Given the description of an element on the screen output the (x, y) to click on. 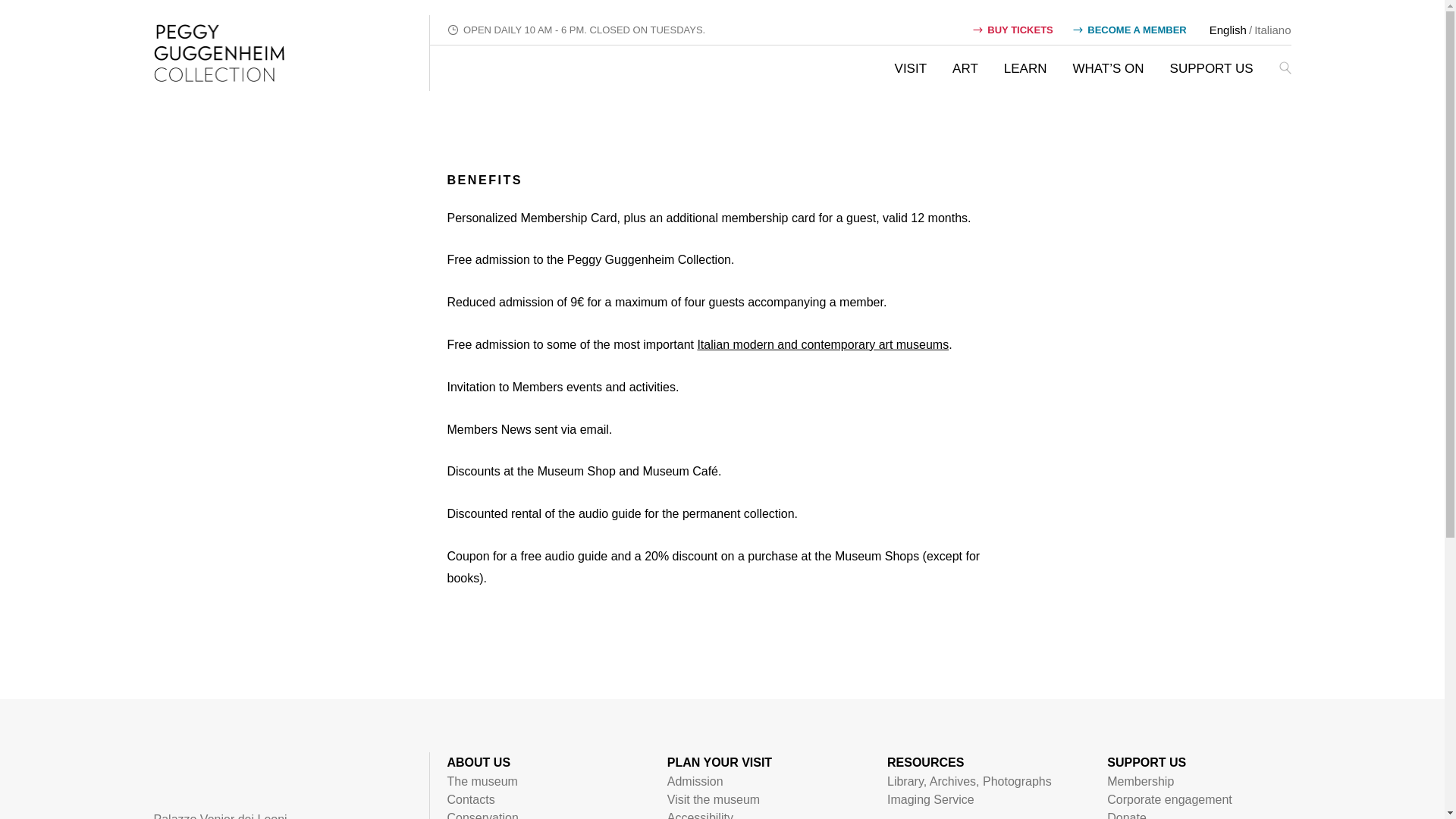
Contacts (470, 799)
BUY TICKETS (1012, 30)
Italiano (1271, 29)
LEARN (1025, 68)
BECOME A MEMBER (1129, 30)
VISIT (911, 68)
The museum (482, 780)
ART (965, 68)
English (1227, 29)
SUPPORT US (1211, 68)
